Given the description of an element on the screen output the (x, y) to click on. 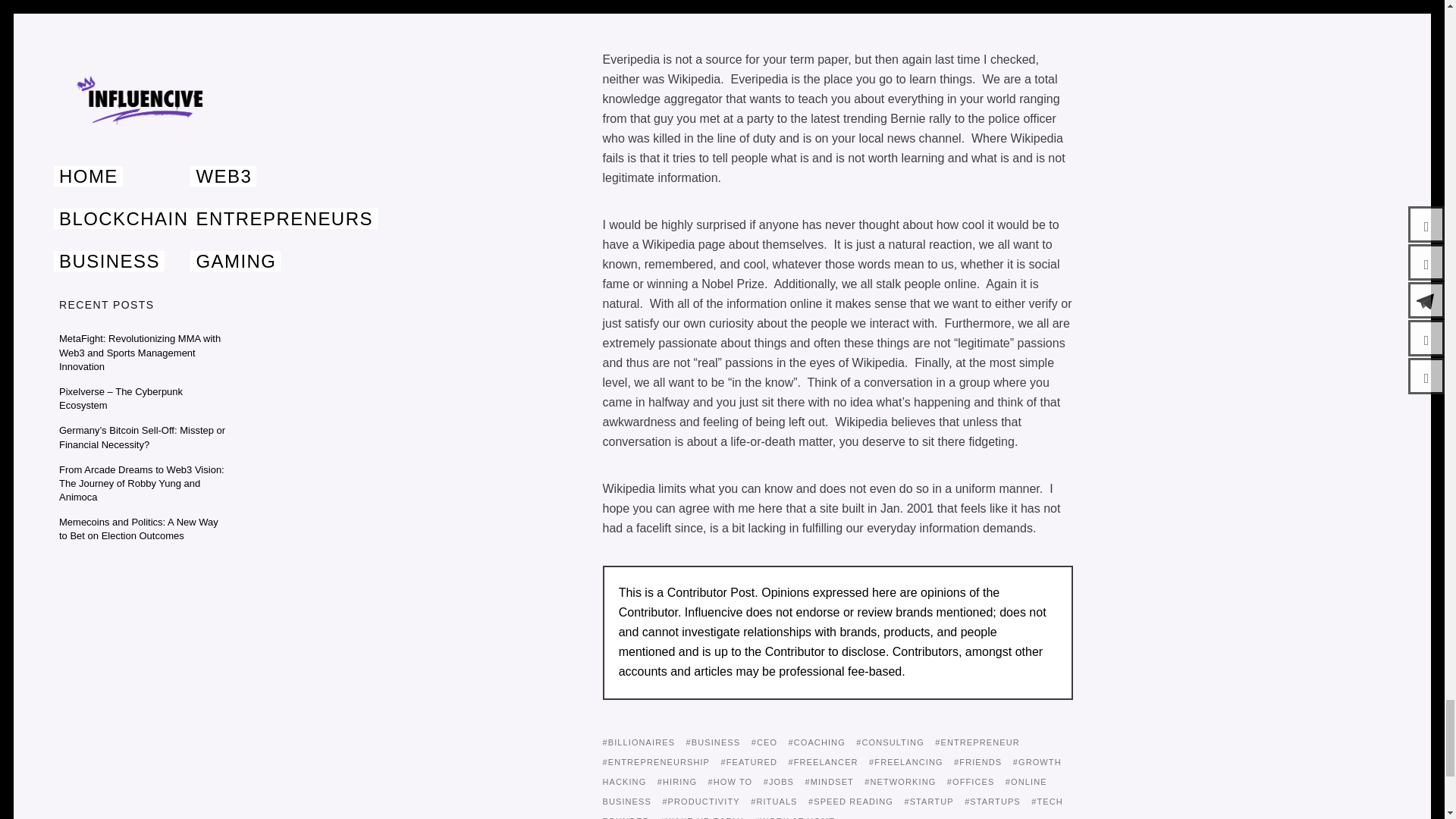
ENTREPRENEURSHIP (656, 761)
BUSINESS (713, 741)
FREELANCING (906, 761)
CONSULTING (890, 741)
BILLIONAIRES (638, 741)
FREELANCER (822, 761)
HIRING (677, 781)
CEO (764, 741)
FRIENDS (977, 761)
COACHING (817, 741)
GROWTH HACKING (831, 771)
HOW TO (729, 781)
ENTREPRENEUR (977, 741)
JOBS (777, 781)
FEATURED (748, 761)
